Given the description of an element on the screen output the (x, y) to click on. 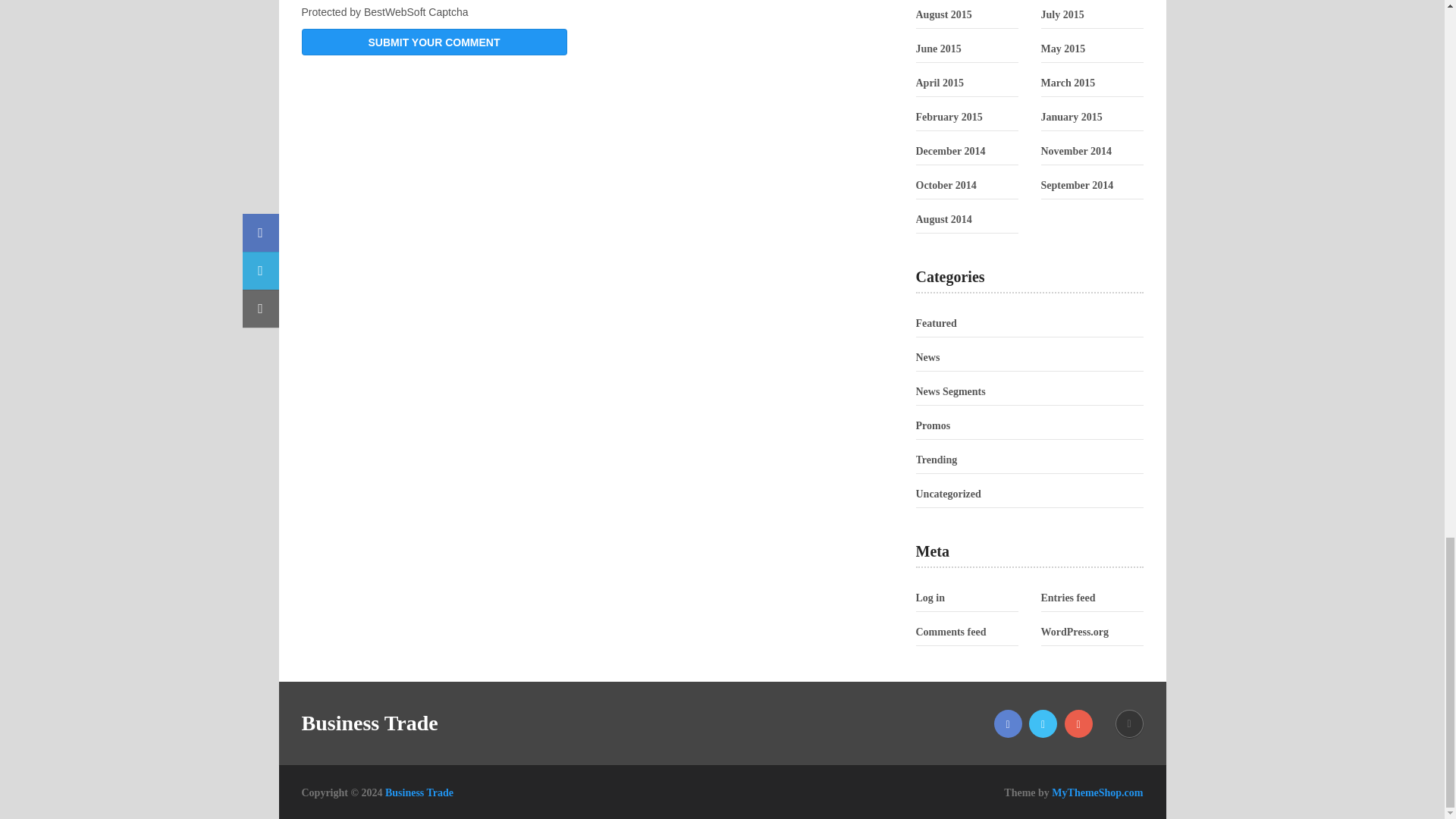
Submit Your Comment (434, 41)
Submit Your Comment (434, 41)
